Given the description of an element on the screen output the (x, y) to click on. 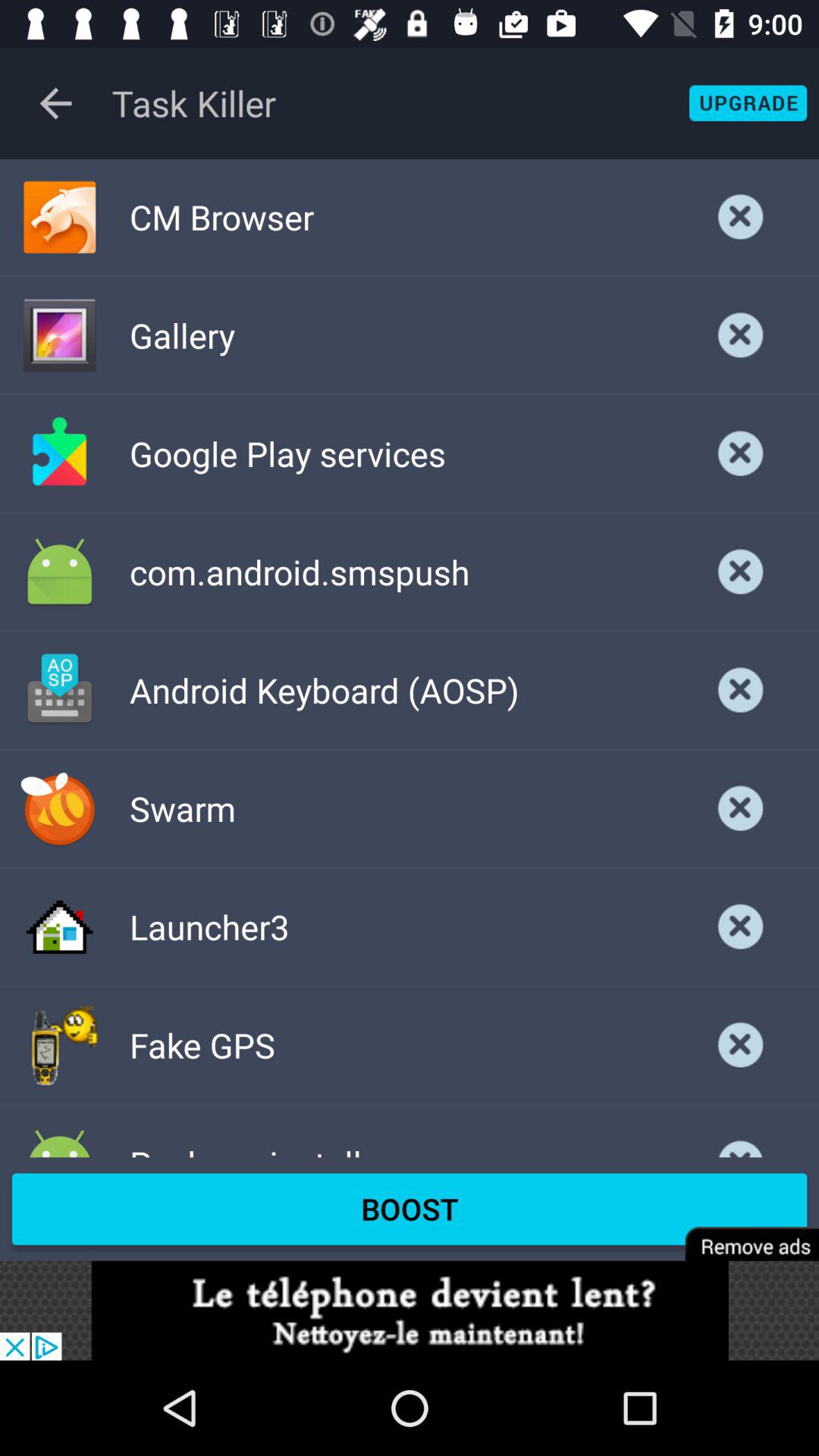
remove section (740, 1045)
